Given the description of an element on the screen output the (x, y) to click on. 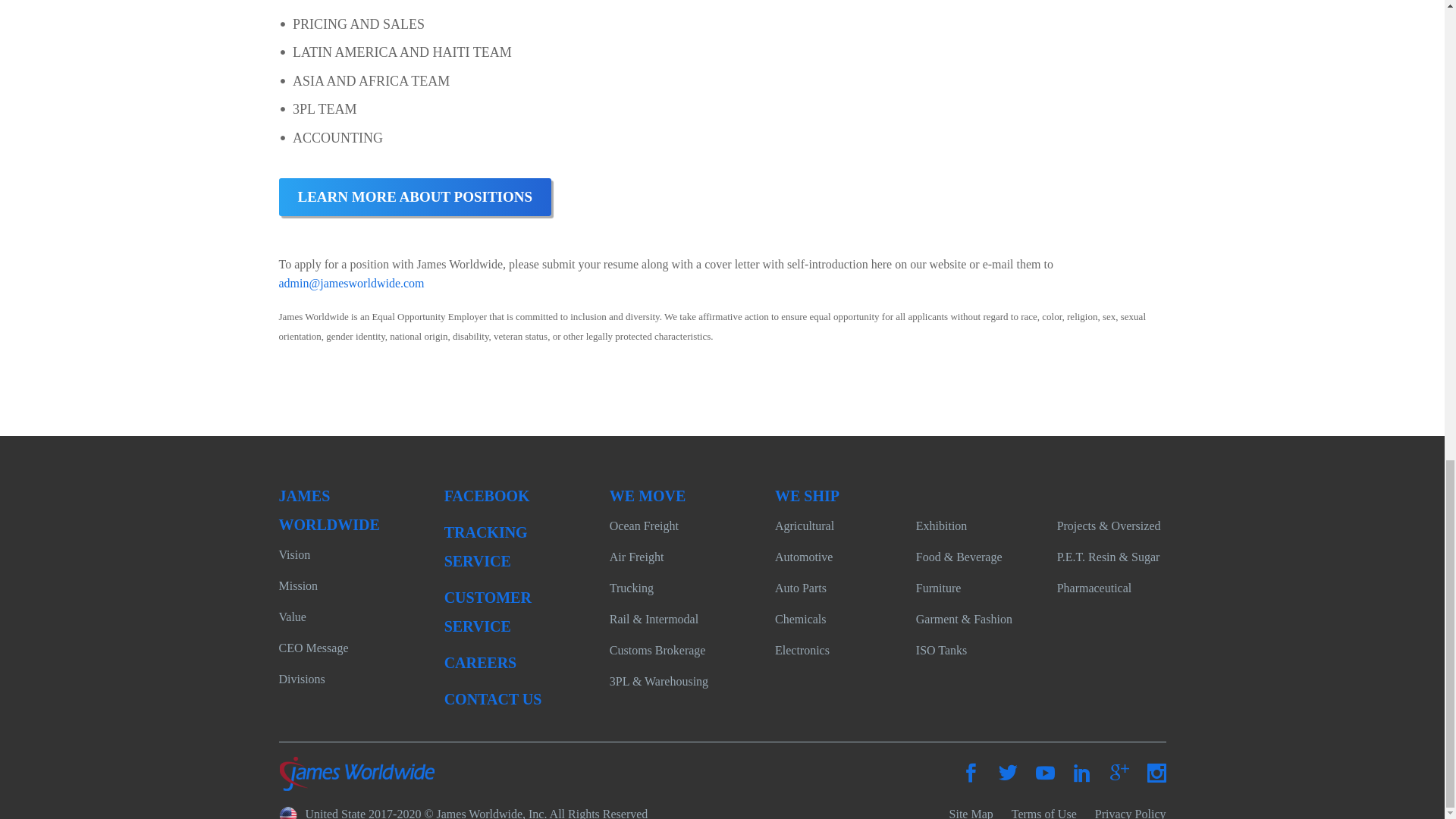
Vision (295, 554)
LEARN MORE ABOUT POSITIONS (415, 197)
JAMES WORLDWIDE (329, 510)
